Given the description of an element on the screen output the (x, y) to click on. 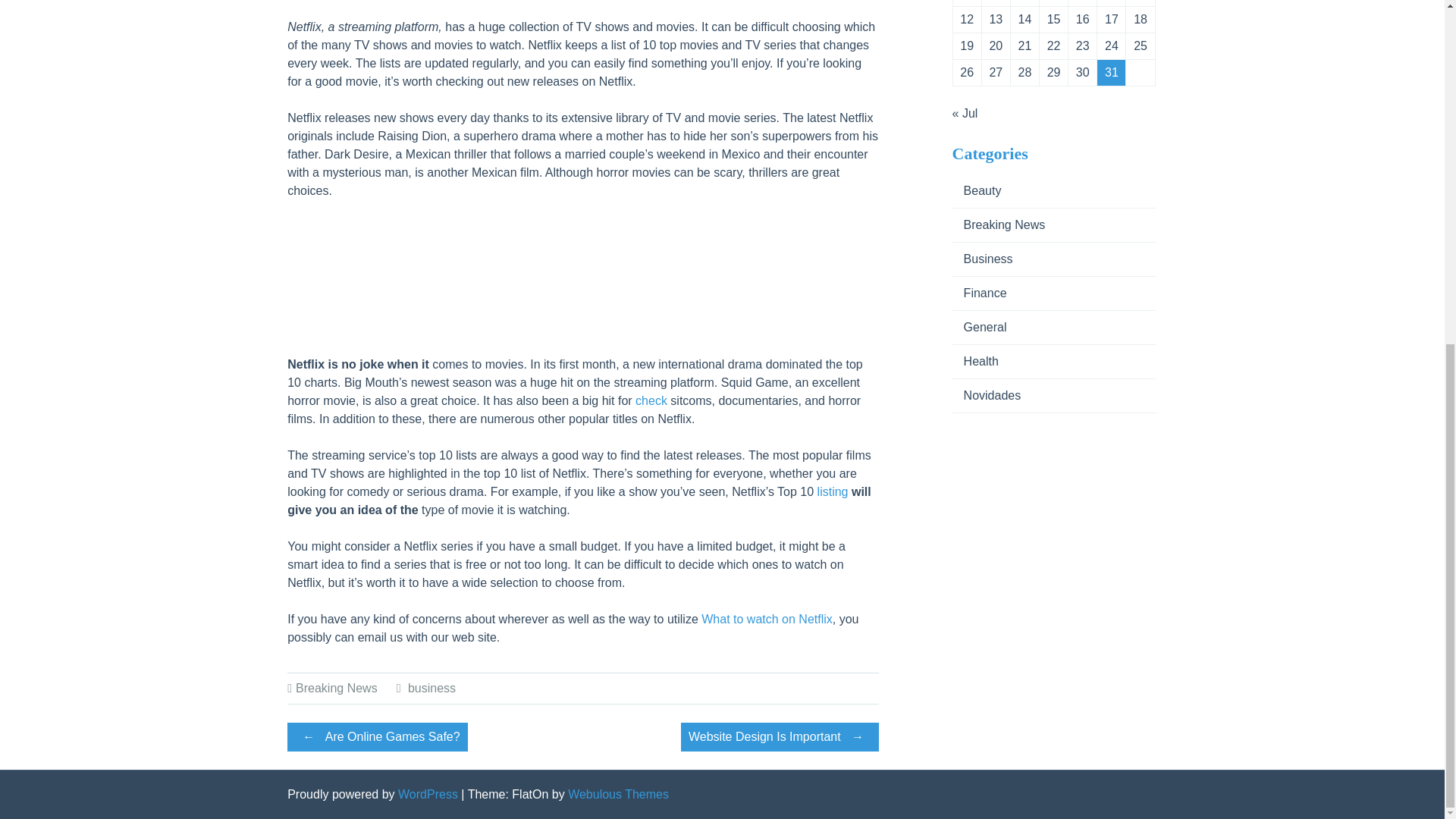
What to watch on Netflix (766, 618)
Breaking News (998, 224)
Finance (979, 292)
Breaking News (336, 687)
check (650, 400)
listing (832, 491)
General (979, 327)
business (431, 687)
Business (982, 258)
Beauty (976, 190)
